Given the description of an element on the screen output the (x, y) to click on. 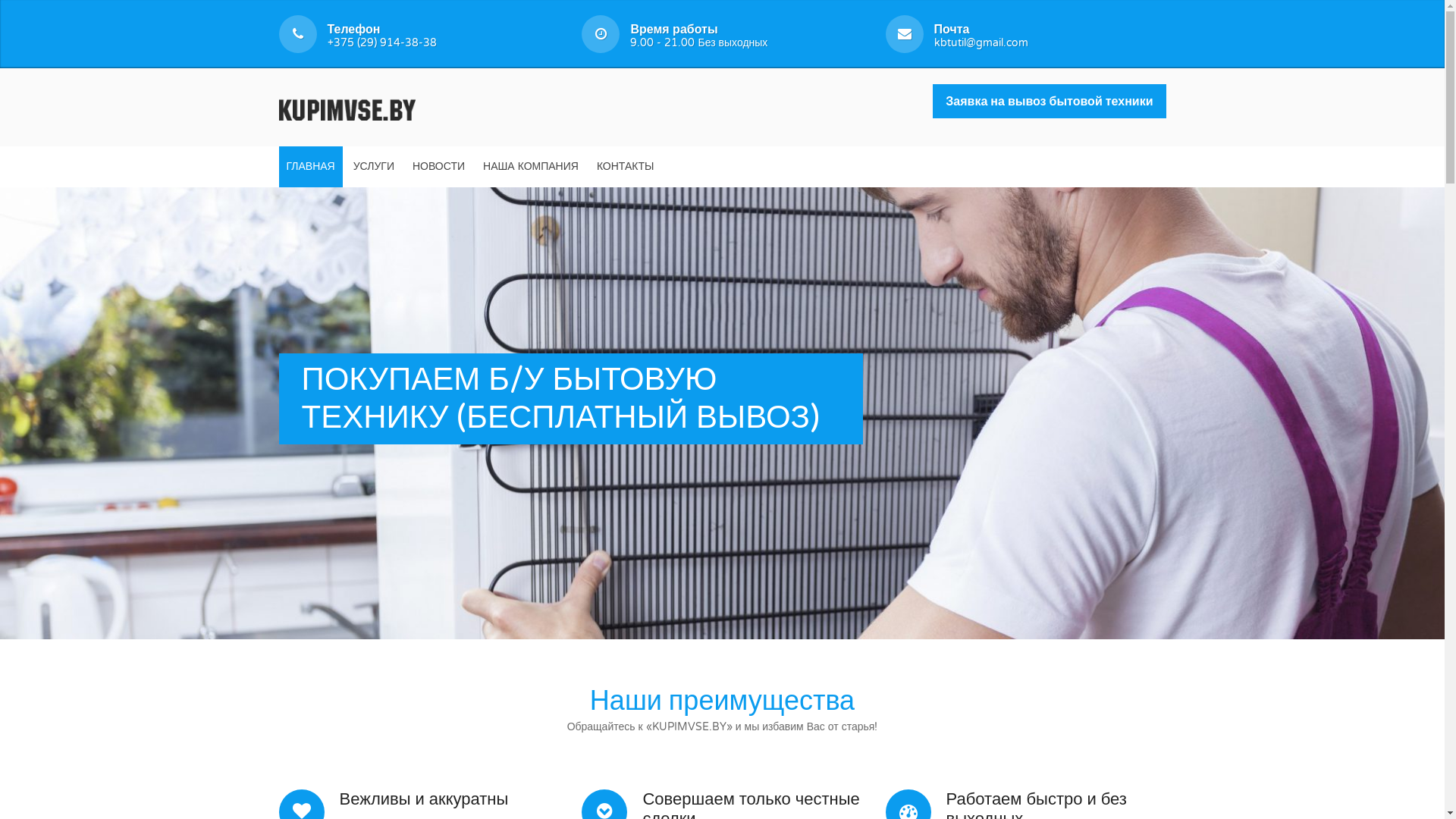
KUPIMVSE.BY Element type: hover (347, 106)
